Given the description of an element on the screen output the (x, y) to click on. 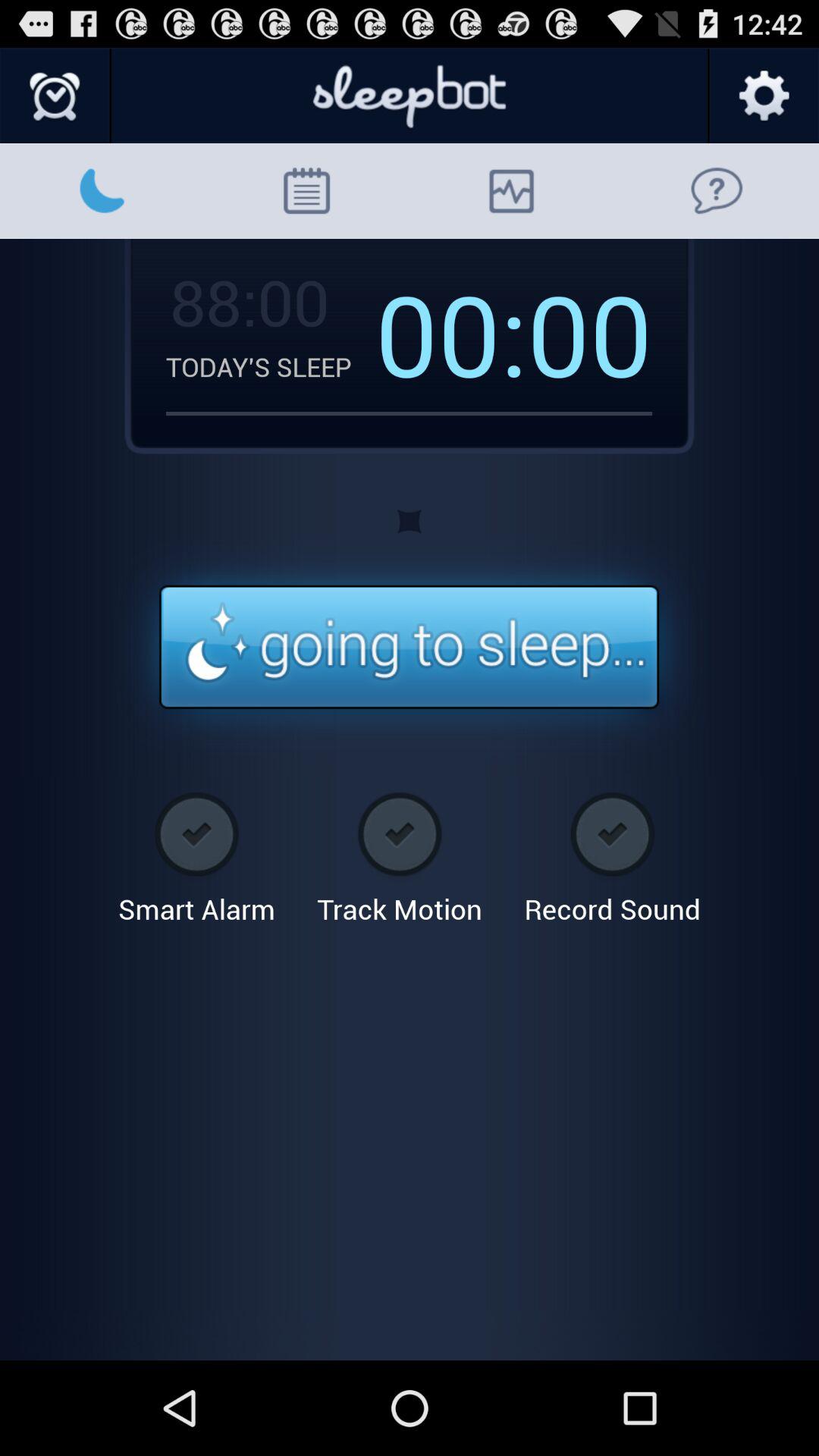
swipe to the smart alarm item (196, 852)
